Given the description of an element on the screen output the (x, y) to click on. 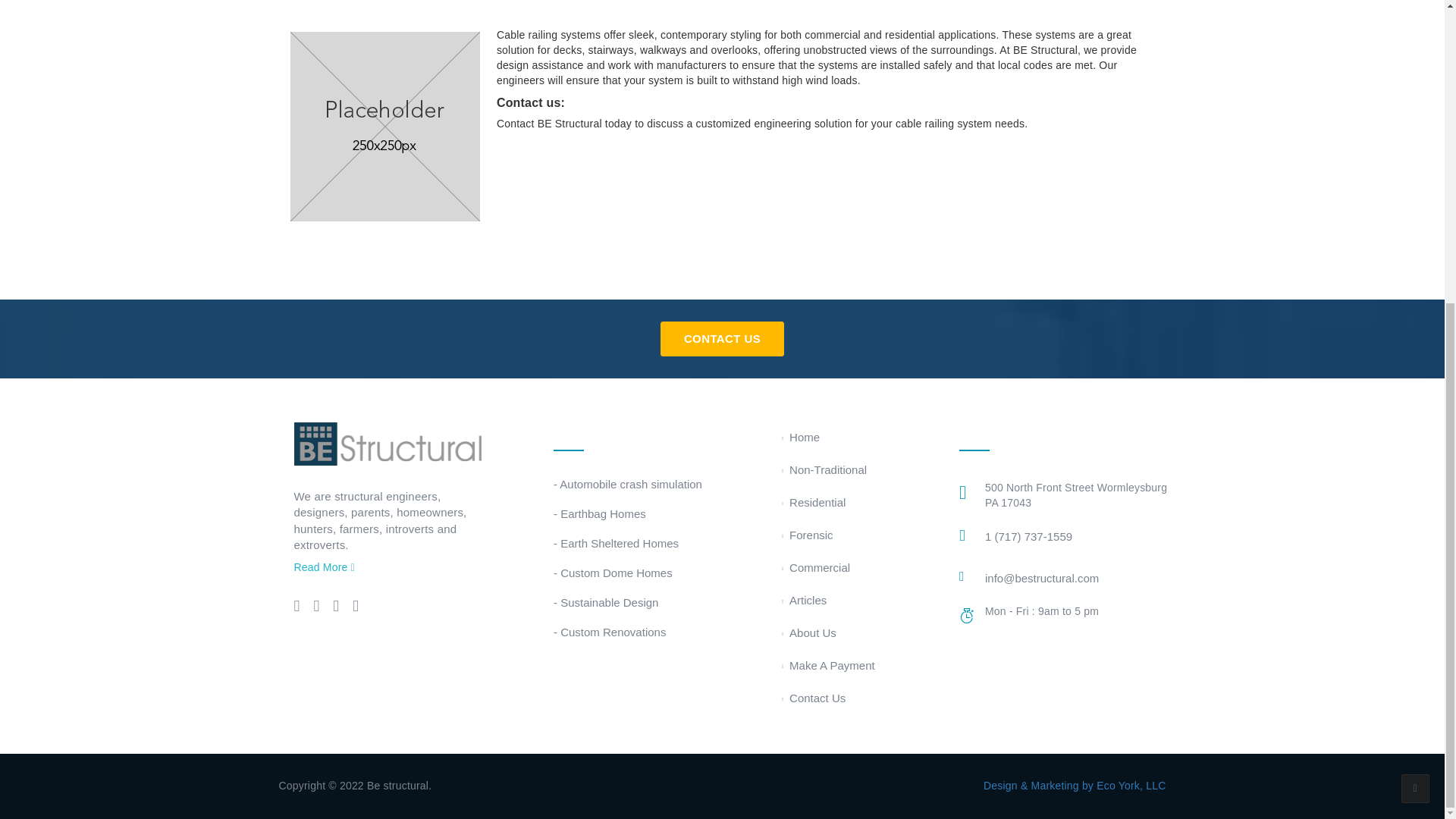
Be Structural (390, 442)
Linkedin (336, 607)
Facebook (315, 607)
Twitter (296, 607)
Pinterest (355, 607)
